Given the description of an element on the screen output the (x, y) to click on. 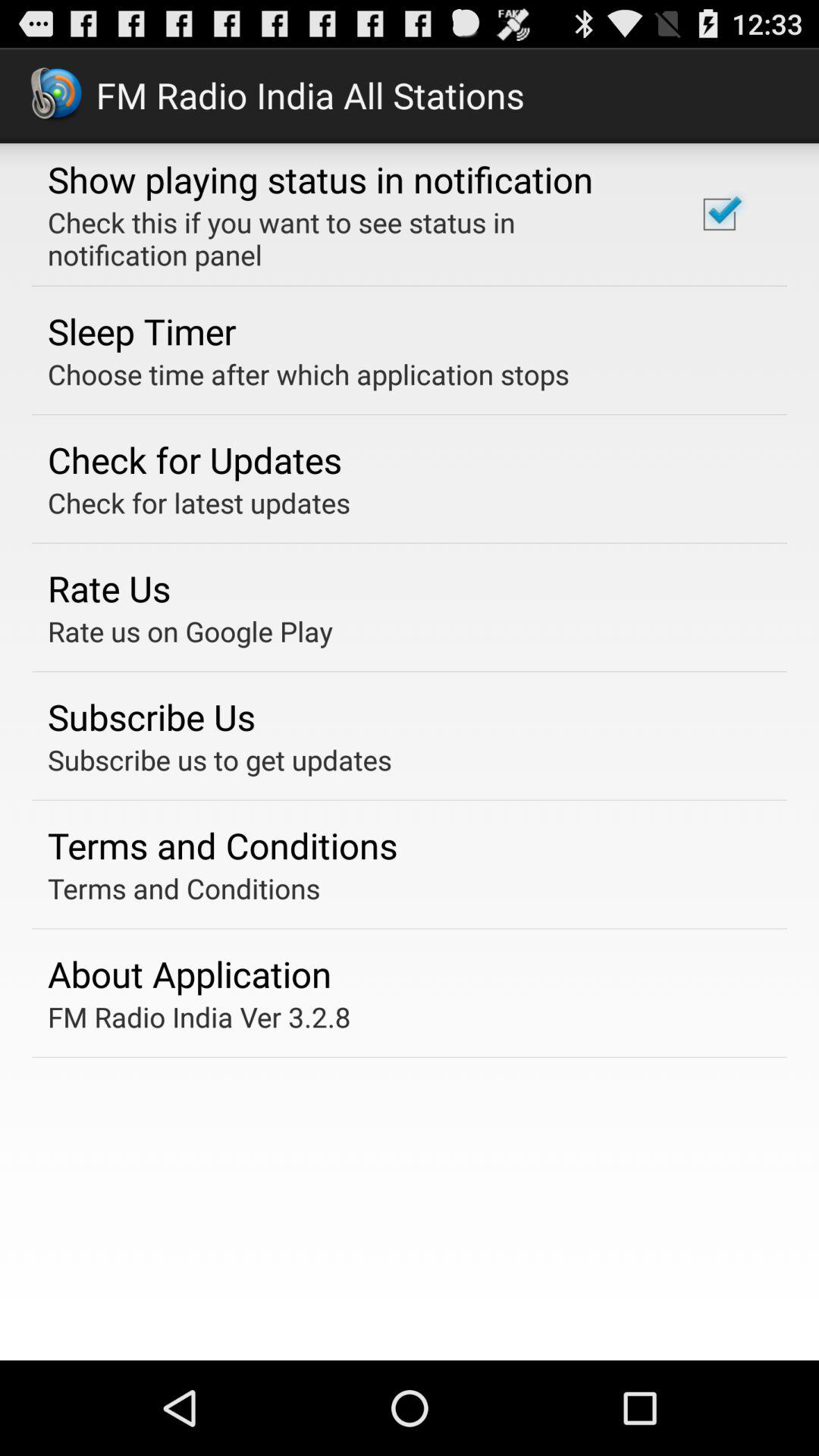
tap the icon above the check this if item (320, 179)
